Given the description of an element on the screen output the (x, y) to click on. 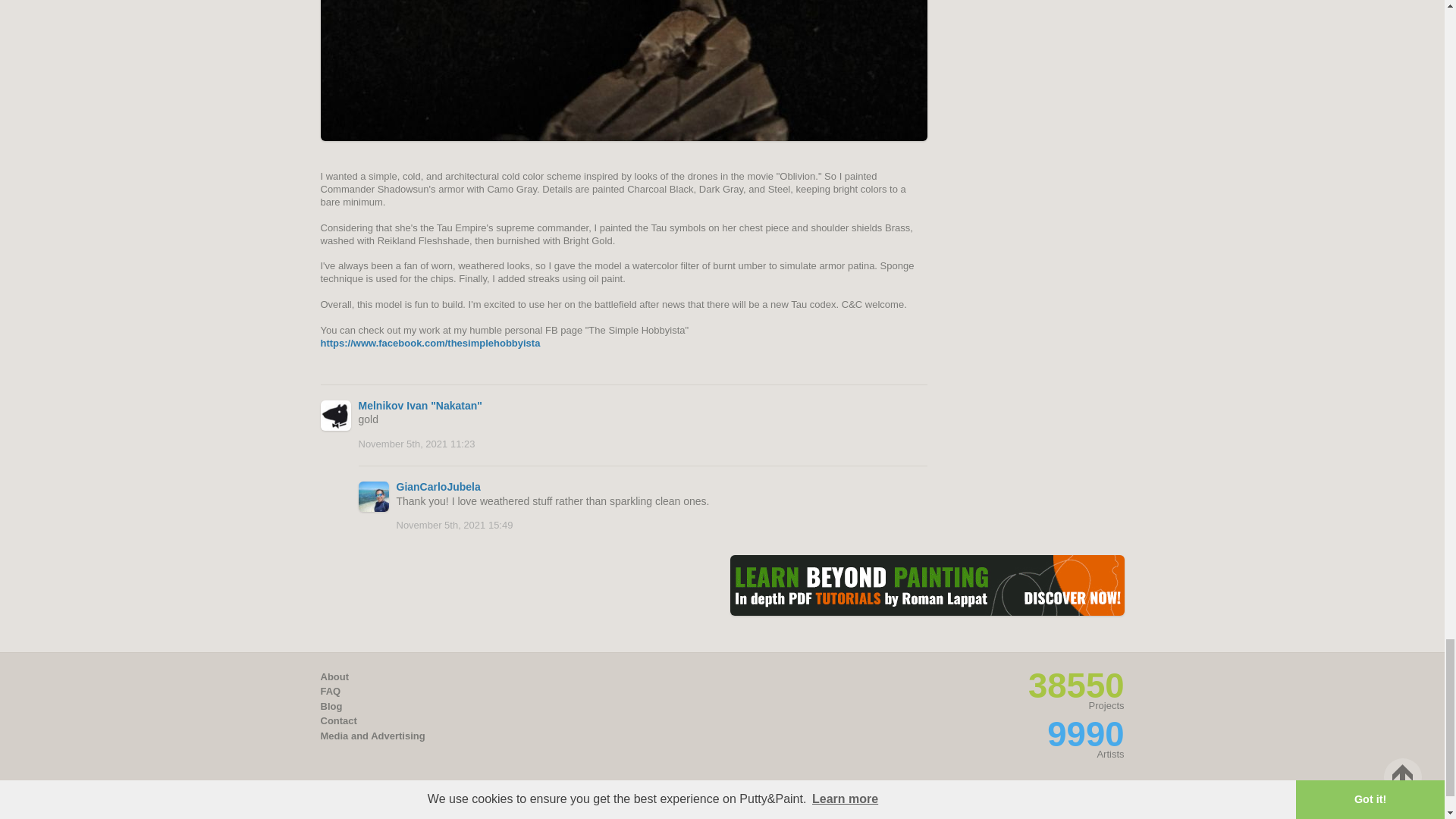
Show all projects (1075, 685)
Contact and Feeback (338, 720)
GianCarloJubela (438, 486)
FAQ (330, 690)
Roman Lappat Tutorial PDF (926, 585)
Melnikov Ivan "Nakatan" (419, 405)
Media and Advertising (372, 736)
Show all artists (1085, 733)
Blog (331, 706)
